Given the description of an element on the screen output the (x, y) to click on. 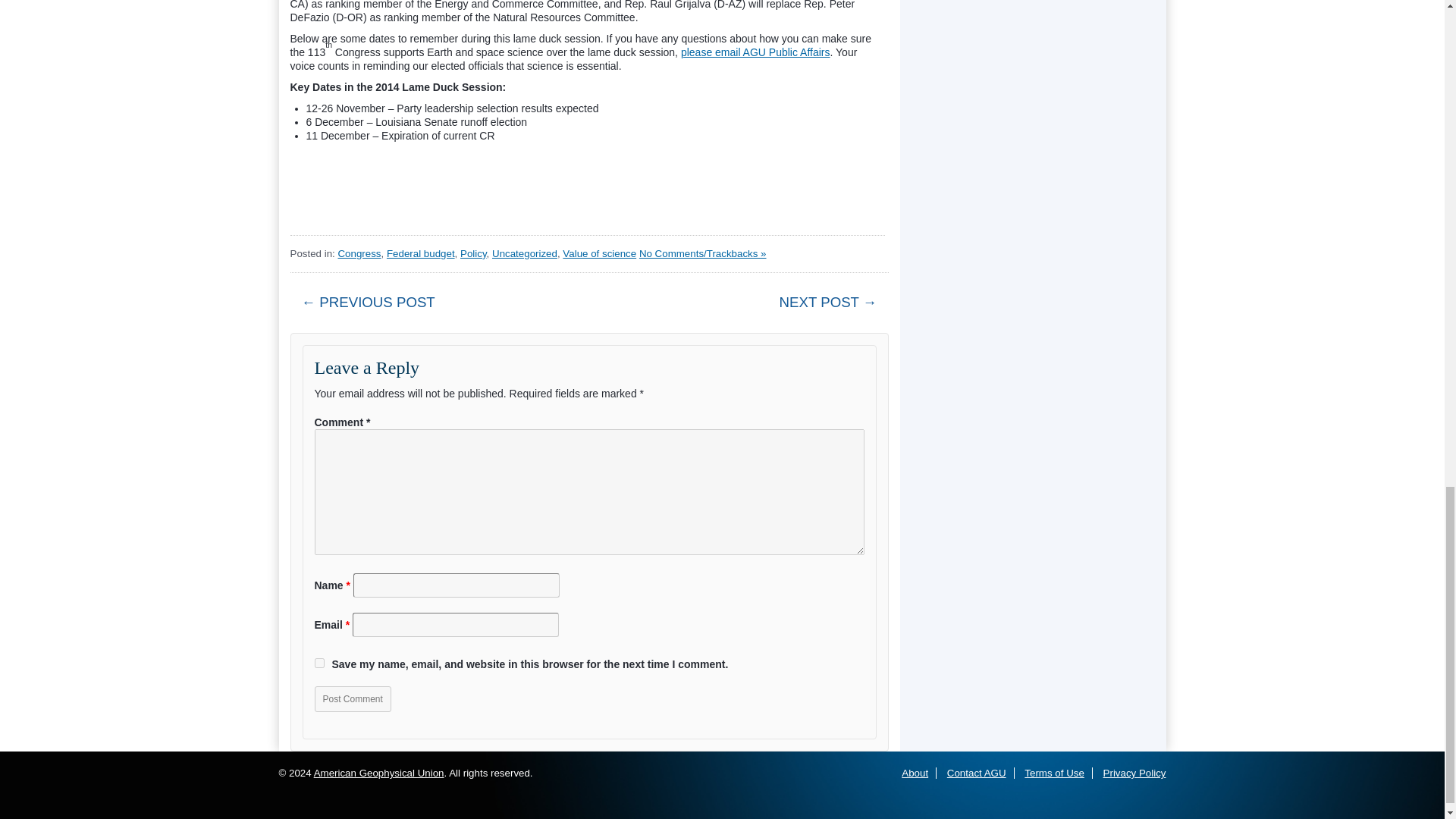
Policy (473, 253)
Federal budget (420, 253)
Post Comment (352, 698)
Value of science (599, 253)
Uncategorized (524, 253)
Congress (358, 253)
yes (318, 663)
Post Comment (352, 698)
please email AGU Public Affairs (755, 51)
